Given the description of an element on the screen output the (x, y) to click on. 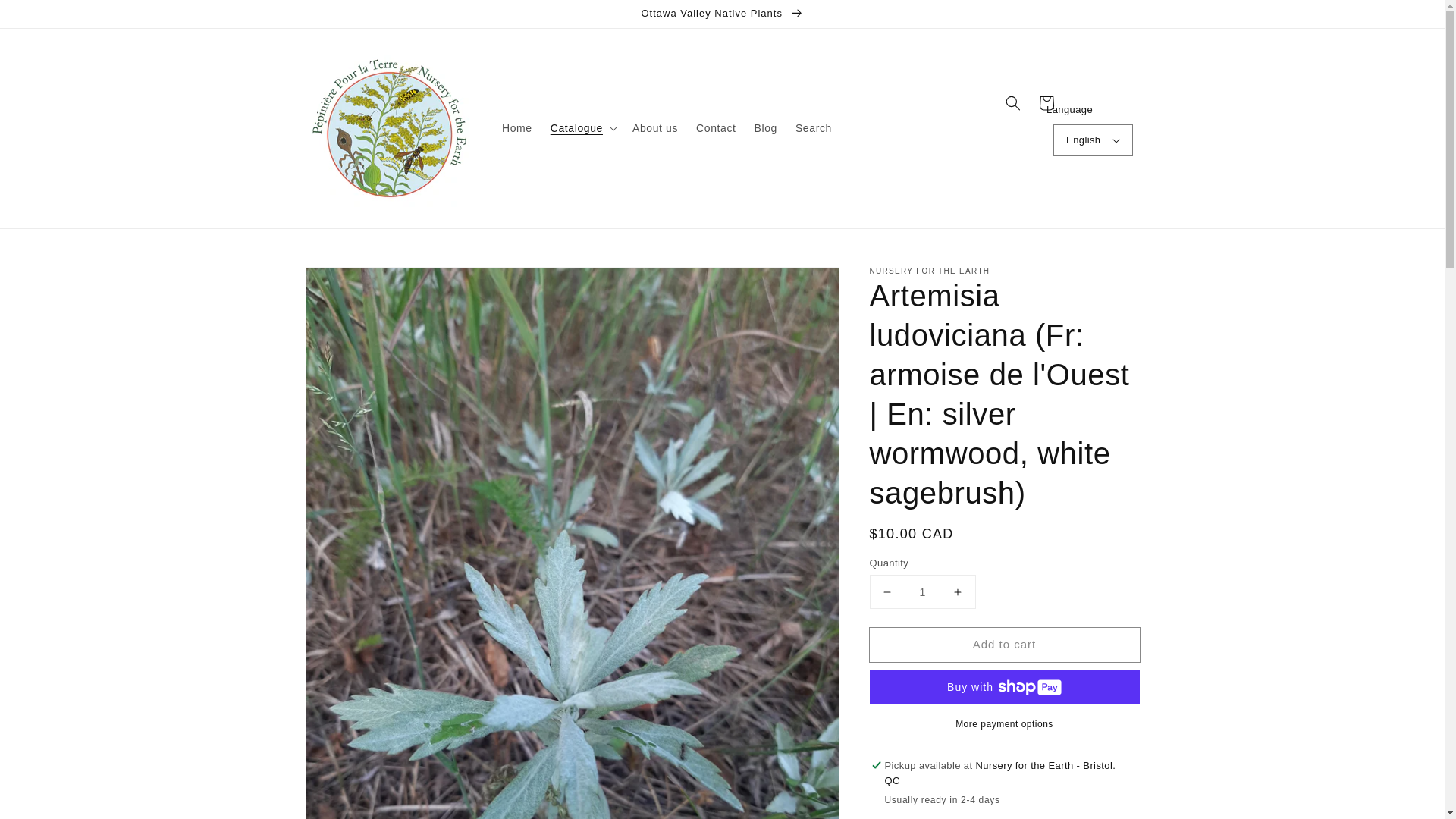
1 (922, 591)
Skip to content (45, 16)
